Given the description of an element on the screen output the (x, y) to click on. 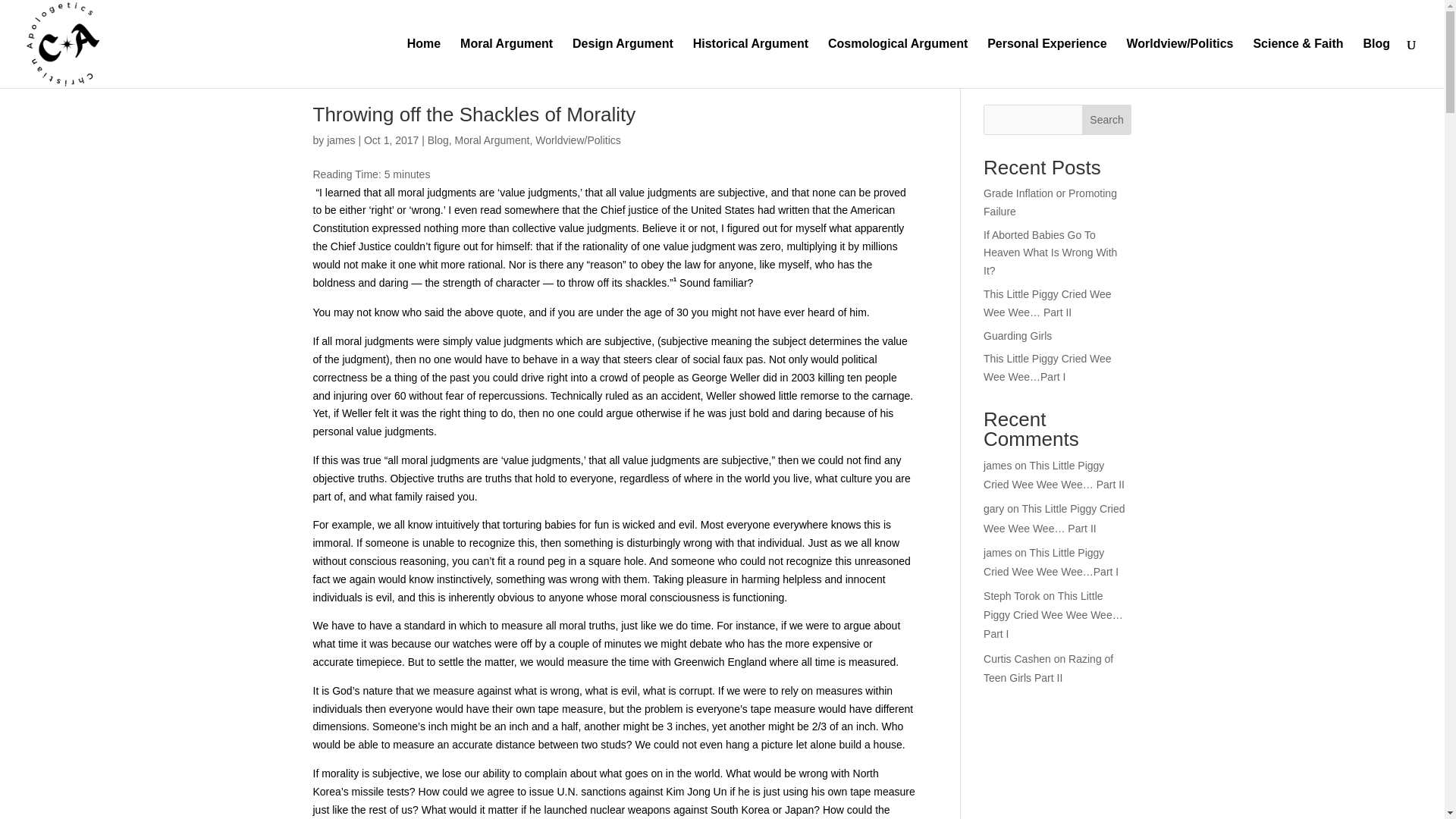
Posts by james (340, 140)
Moral Argument (491, 140)
Throwing off the Shackles of Morality (473, 114)
Grade Inflation or Promoting Failure (1050, 202)
james (340, 140)
Personal Experience (1046, 62)
Historical Argument (750, 62)
Blog (438, 140)
Design Argument (622, 62)
Search (1106, 119)
Cosmological Argument (898, 62)
Moral Argument (506, 62)
